Given the description of an element on the screen output the (x, y) to click on. 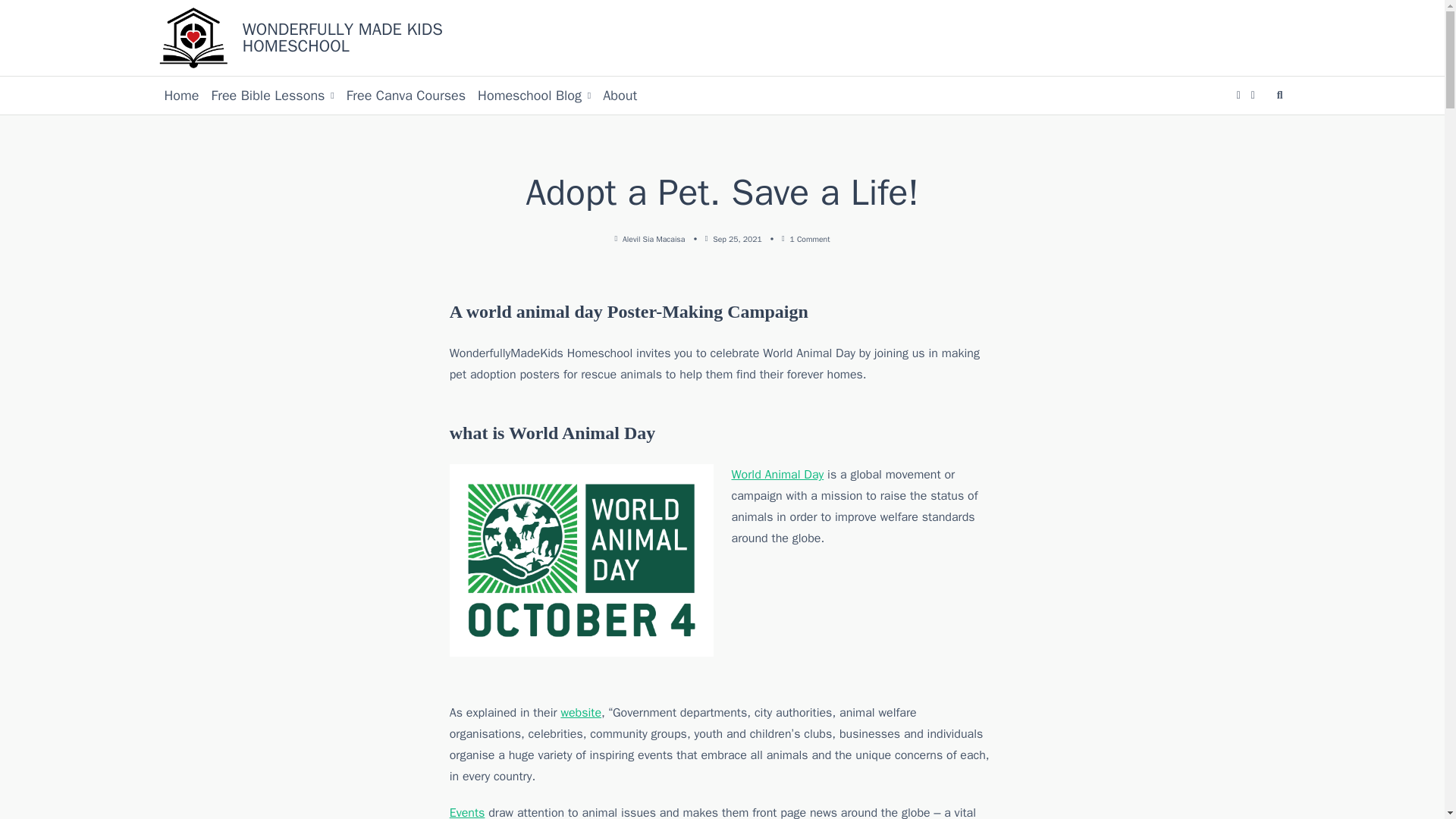
About (619, 95)
Homeschool Blog (533, 95)
Home (181, 95)
Free Canva Courses (405, 95)
Free Bible Lessons (272, 95)
WONDERFULLY MADE KIDS HOMESCHOOL (342, 37)
